Given the description of an element on the screen output the (x, y) to click on. 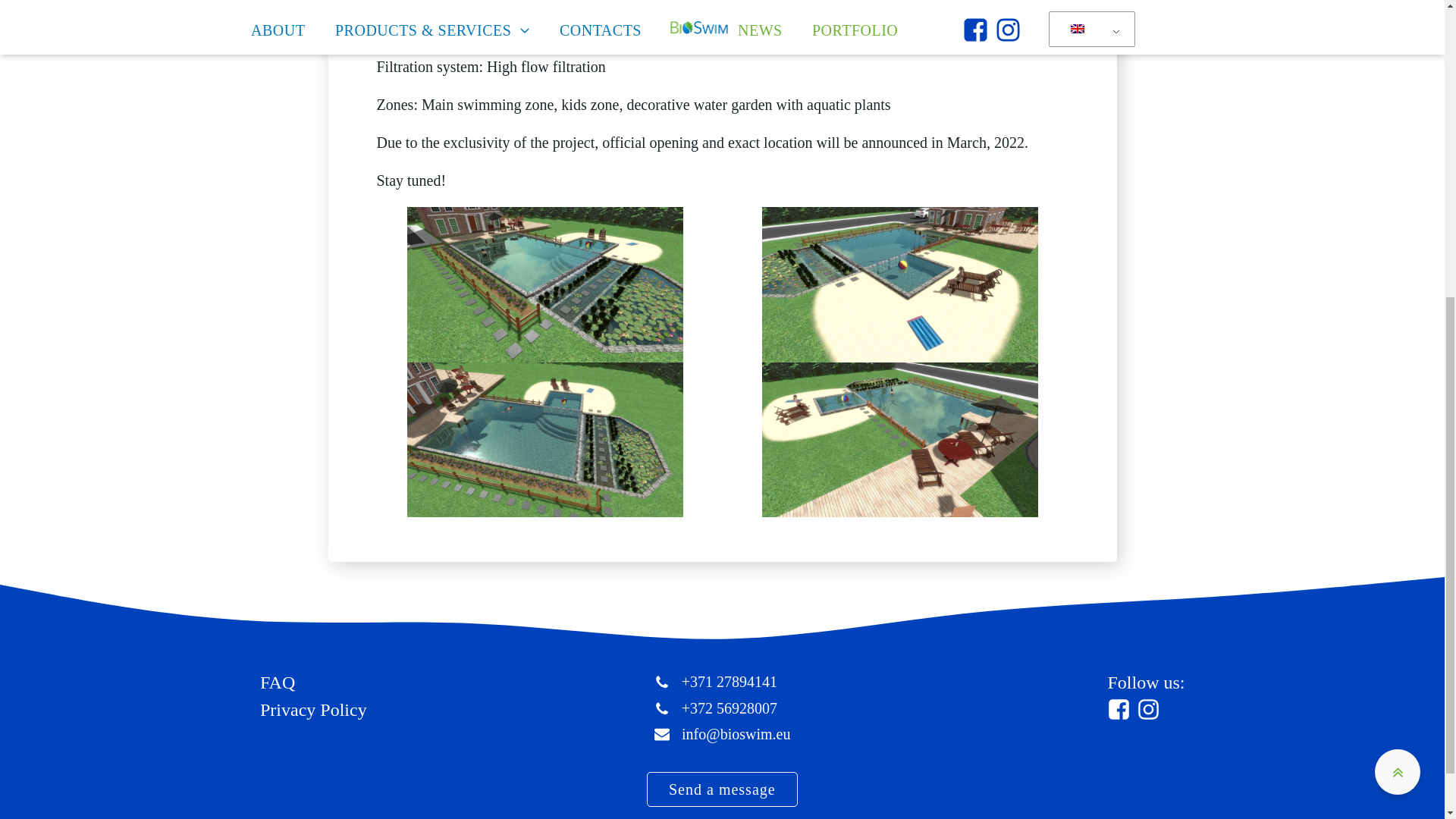
FAQ (276, 683)
Privacy Policy (312, 707)
